Given the description of an element on the screen output the (x, y) to click on. 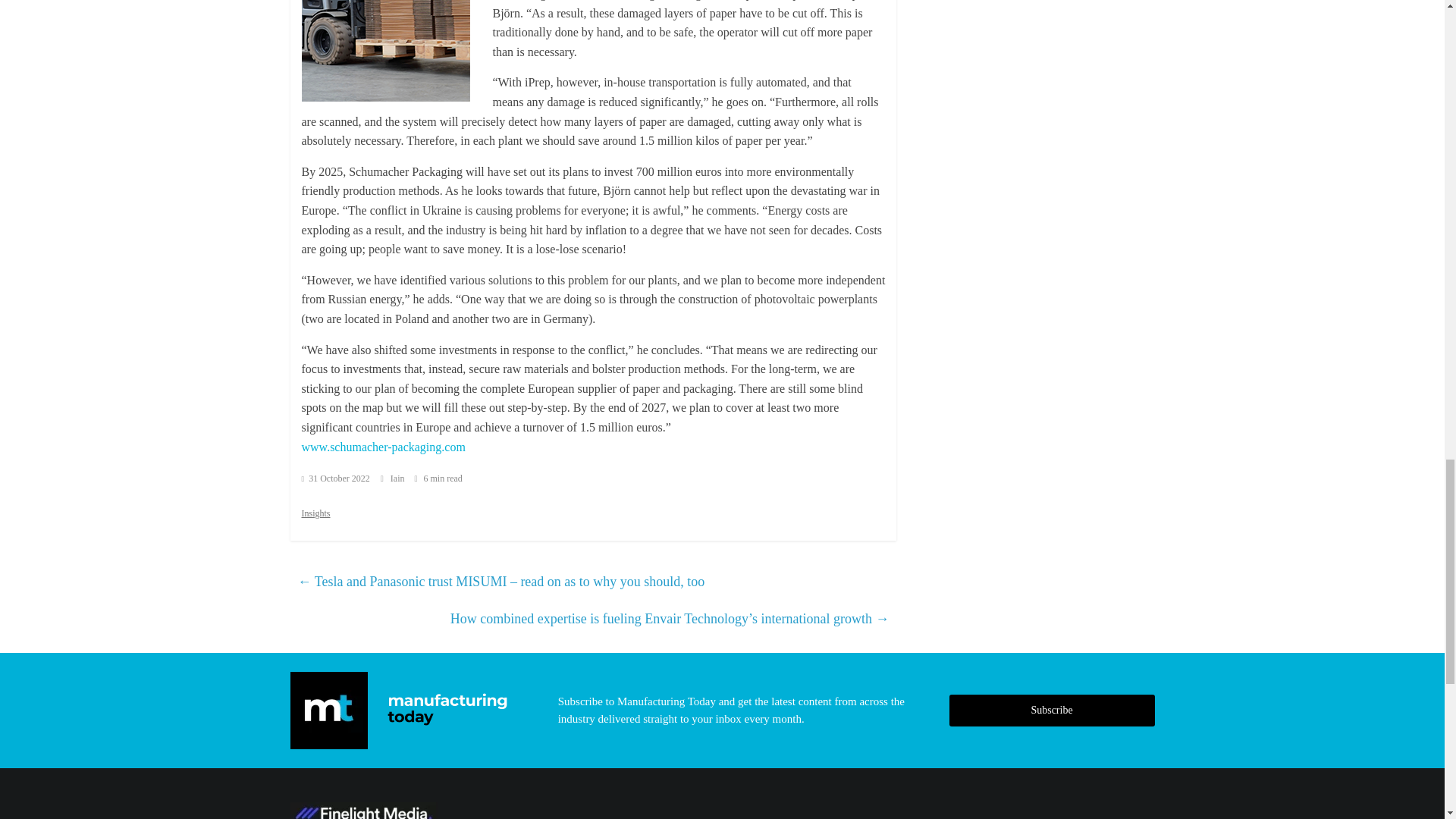
31 October 2022 (335, 478)
Insights (315, 512)
Iain (398, 478)
www.schumacher-packaging.com (383, 446)
4:50 pm (335, 478)
Iain (398, 478)
